Given the description of an element on the screen output the (x, y) to click on. 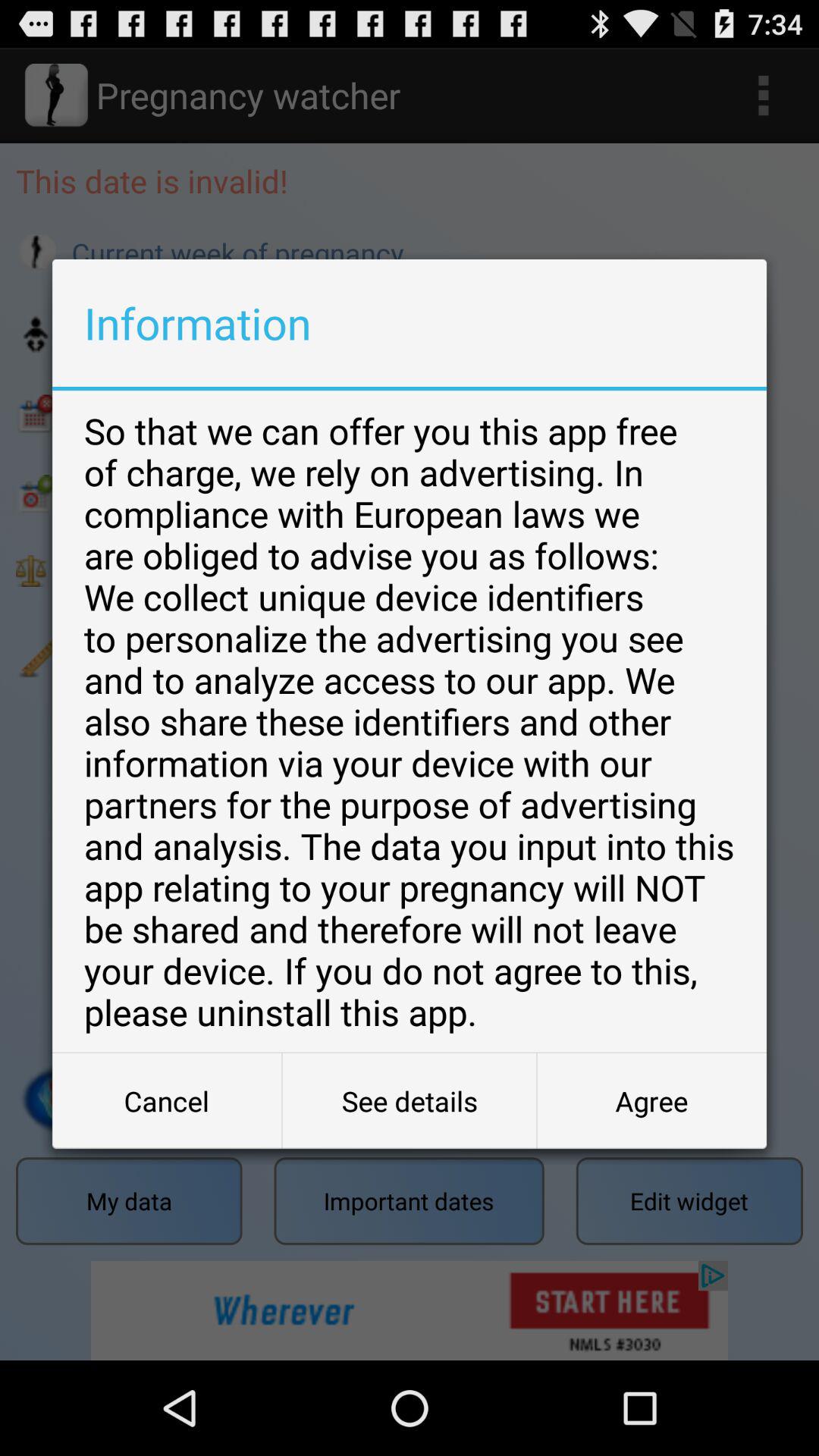
click the icon to the left of the agree icon (409, 1100)
